Given the description of an element on the screen output the (x, y) to click on. 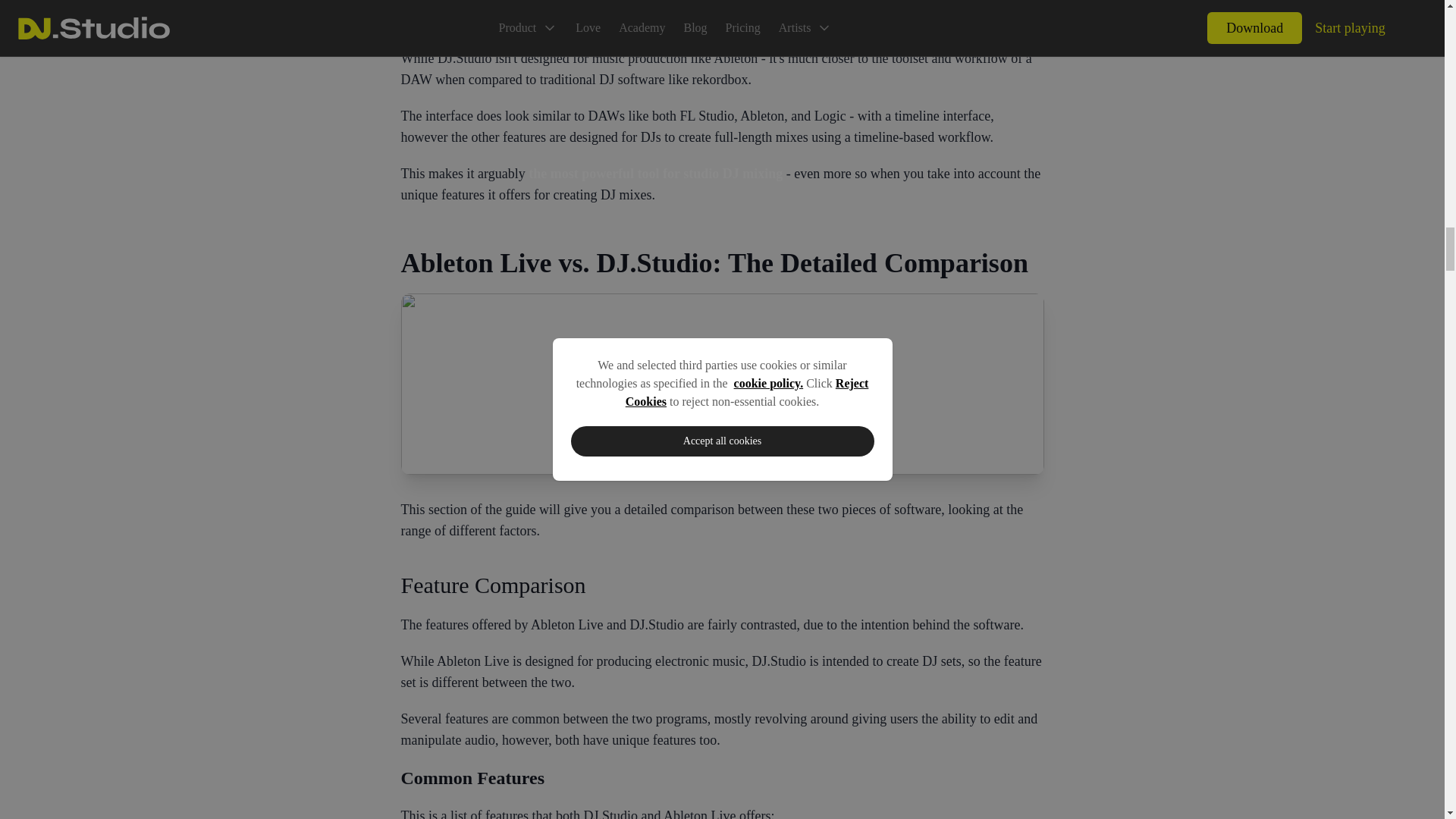
ableton vs djs comparison.png (721, 384)
Ableton Live vs. DJ.Studio: The Detailed Comparison (721, 263)
Common Features (721, 777)
Feature Comparison (721, 584)
rekordbox (428, 21)
